Given the description of an element on the screen output the (x, y) to click on. 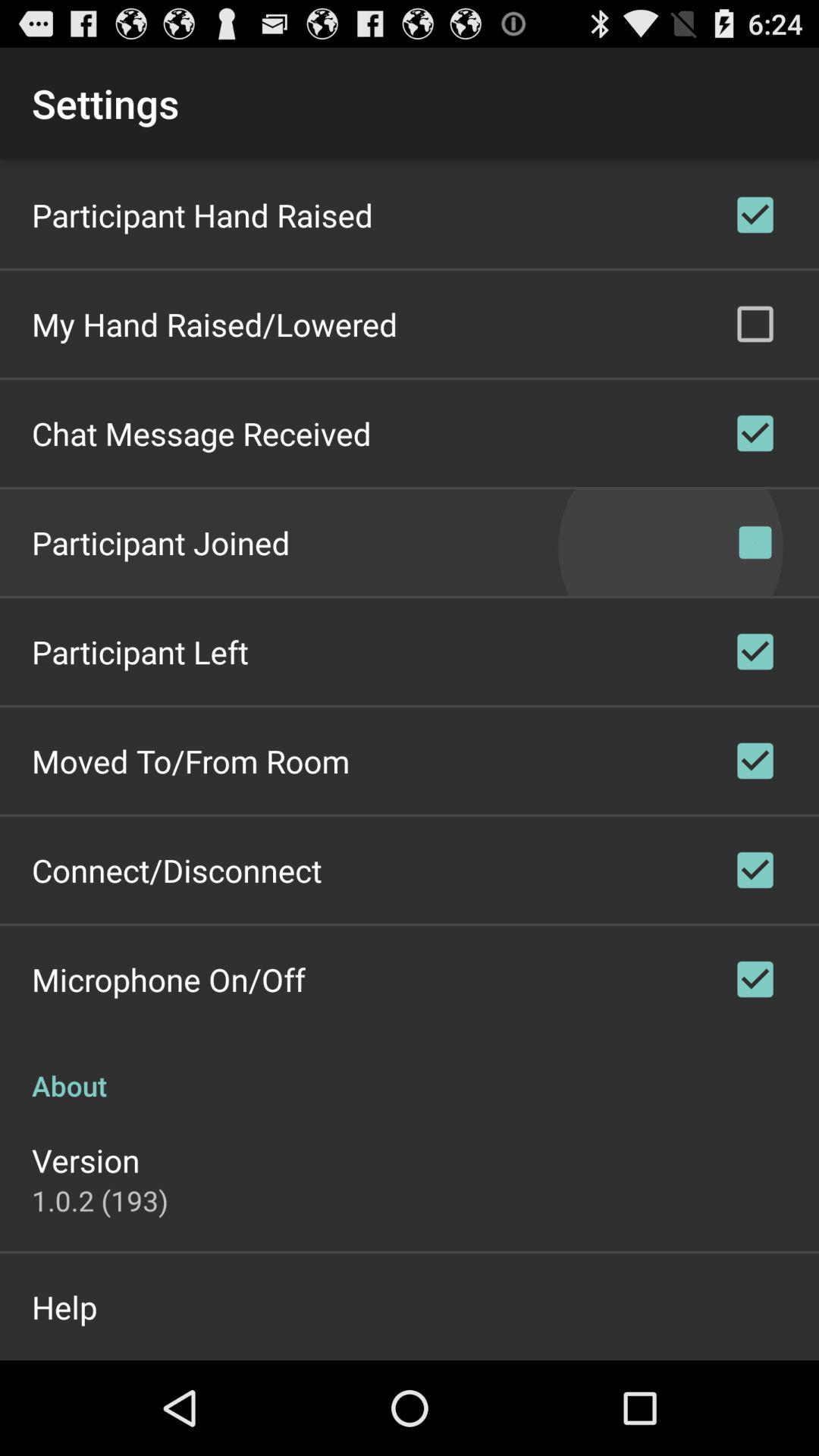
press the item above the version item (409, 1069)
